Given the description of an element on the screen output the (x, y) to click on. 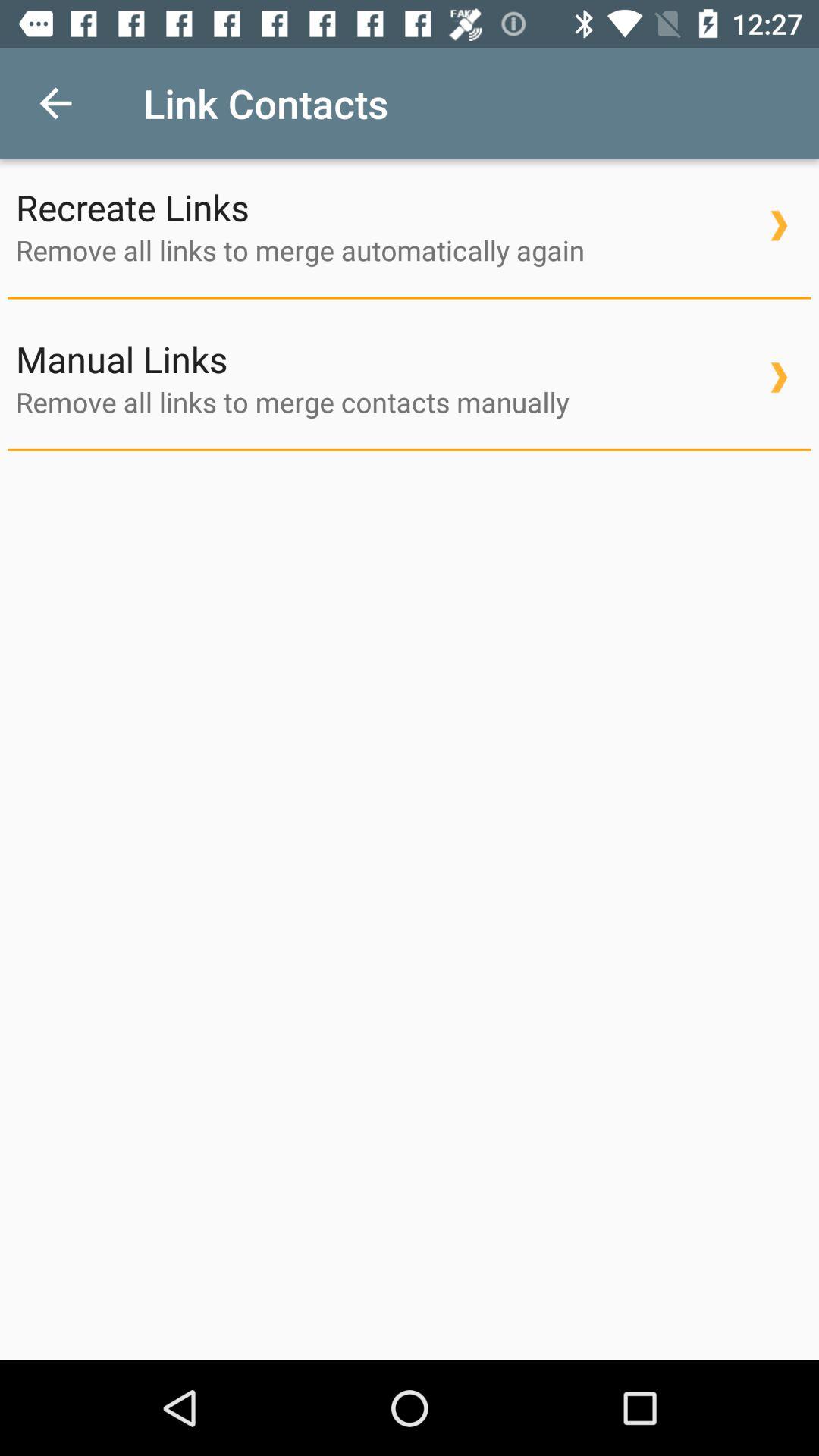
select the item above recreate links icon (55, 103)
